Given the description of an element on the screen output the (x, y) to click on. 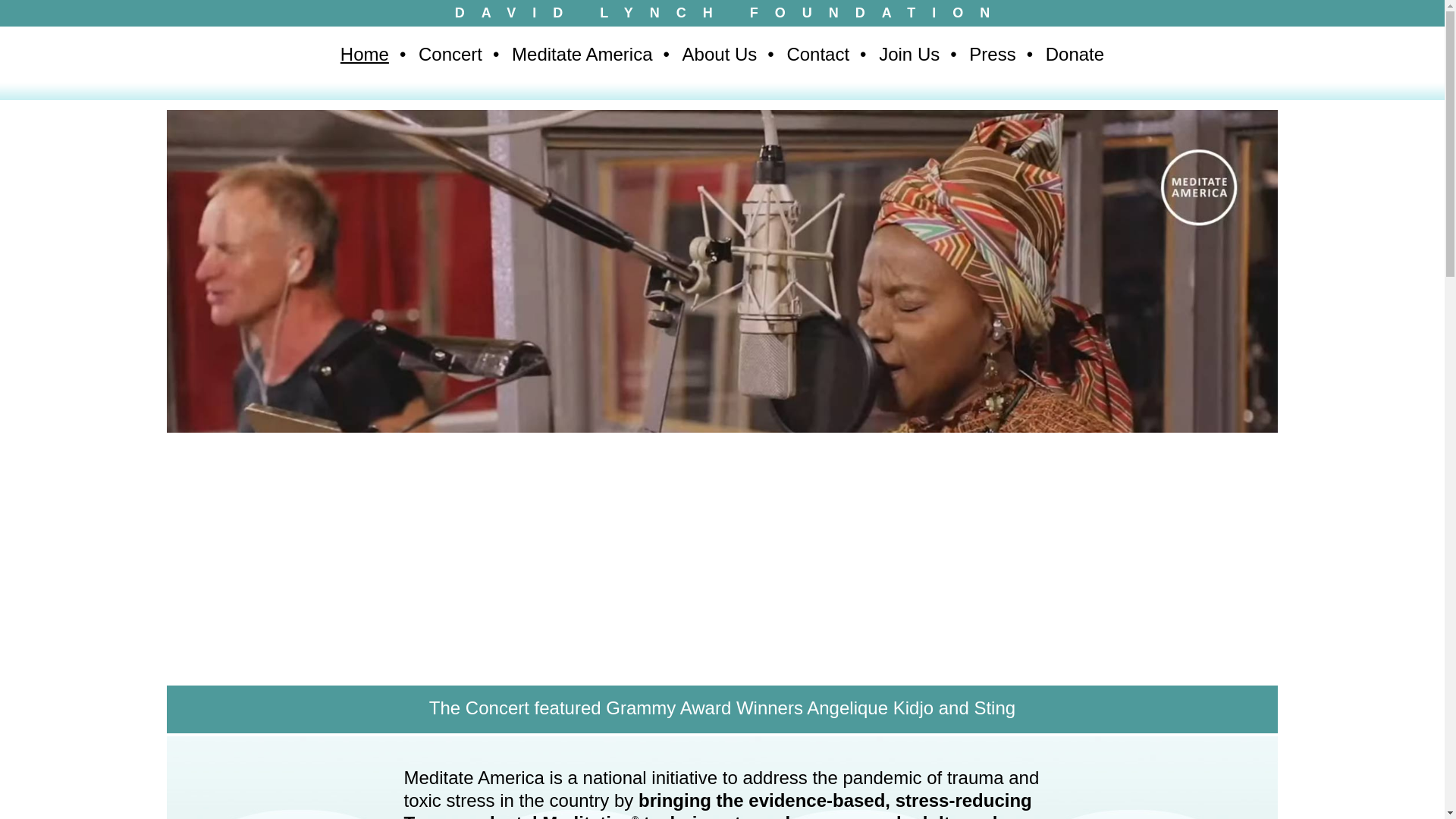
About Us (719, 53)
Concert (450, 53)
Join Us (909, 53)
Meditate America (582, 53)
Contact (817, 53)
Donate (1074, 53)
Home (364, 53)
Press (991, 53)
